Given the description of an element on the screen output the (x, y) to click on. 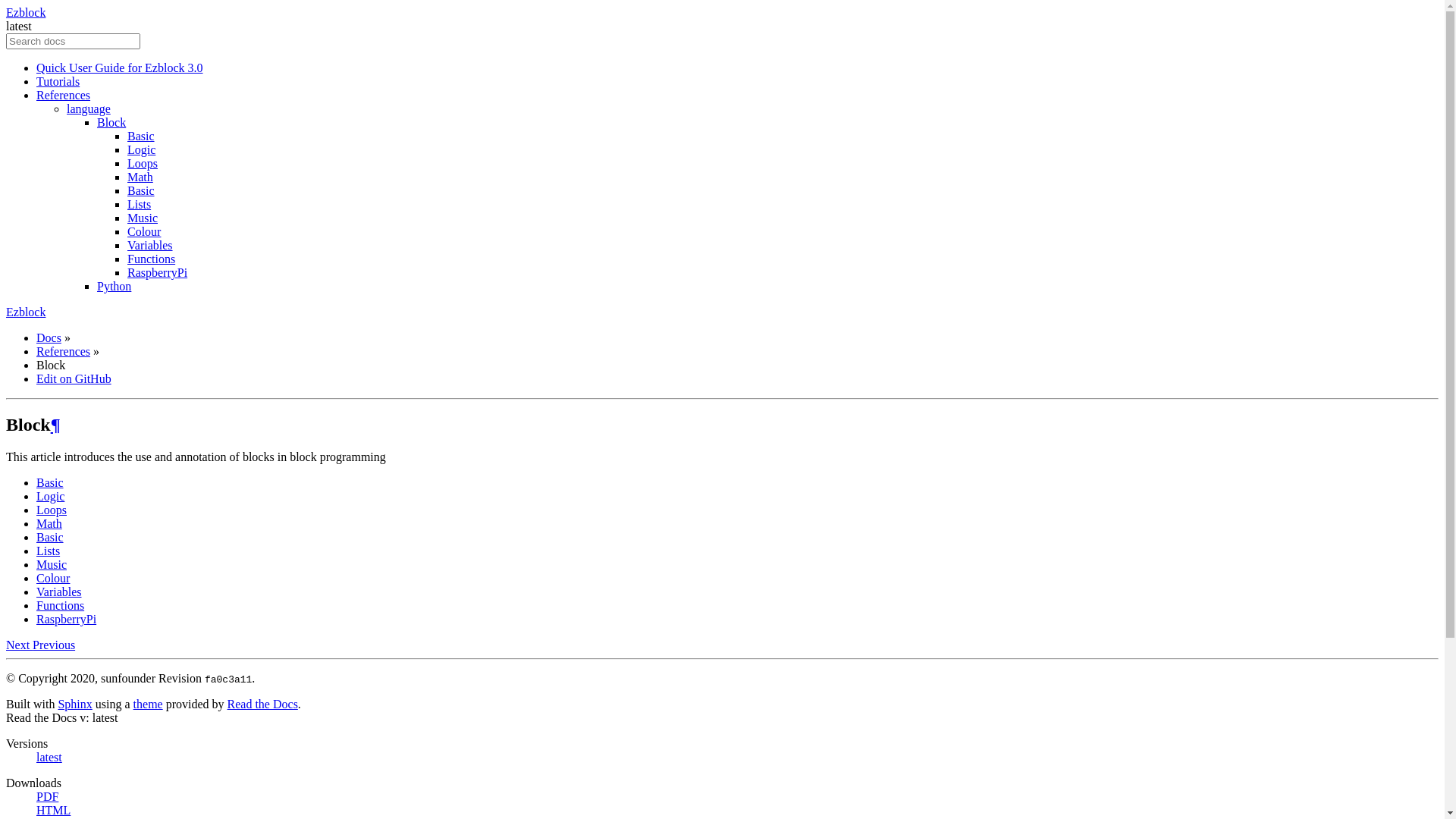
RaspberryPi Element type: text (66, 618)
Functions Element type: text (151, 258)
Math Element type: text (140, 176)
HTML Element type: text (53, 809)
Loops Element type: text (142, 162)
Edit on GitHub Element type: text (73, 378)
Ezblock Element type: text (25, 311)
Next Element type: text (19, 644)
Colour Element type: text (52, 577)
Variables Element type: text (58, 591)
Basic Element type: text (49, 536)
theme Element type: text (148, 703)
Music Element type: text (51, 564)
Tutorials Element type: text (57, 81)
Logic Element type: text (50, 495)
Ezblock Element type: text (25, 12)
Lists Element type: text (47, 550)
Previous Element type: text (53, 644)
language Element type: text (88, 108)
Basic Element type: text (140, 135)
Docs Element type: text (48, 337)
latest Element type: text (49, 756)
RaspberryPi Element type: text (157, 272)
References Element type: text (63, 94)
Variables Element type: text (149, 244)
References Element type: text (63, 351)
Music Element type: text (142, 217)
Read the Docs Element type: text (262, 703)
Sphinx Element type: text (74, 703)
Quick User Guide for Ezblock 3.0 Element type: text (119, 67)
Basic Element type: text (140, 190)
Block Element type: text (111, 122)
Functions Element type: text (60, 605)
Python Element type: text (114, 285)
PDF Element type: text (47, 796)
Basic Element type: text (49, 482)
Lists Element type: text (138, 203)
Colour Element type: text (143, 231)
Math Element type: text (49, 523)
Logic Element type: text (141, 149)
Loops Element type: text (51, 509)
